Given the description of an element on the screen output the (x, y) to click on. 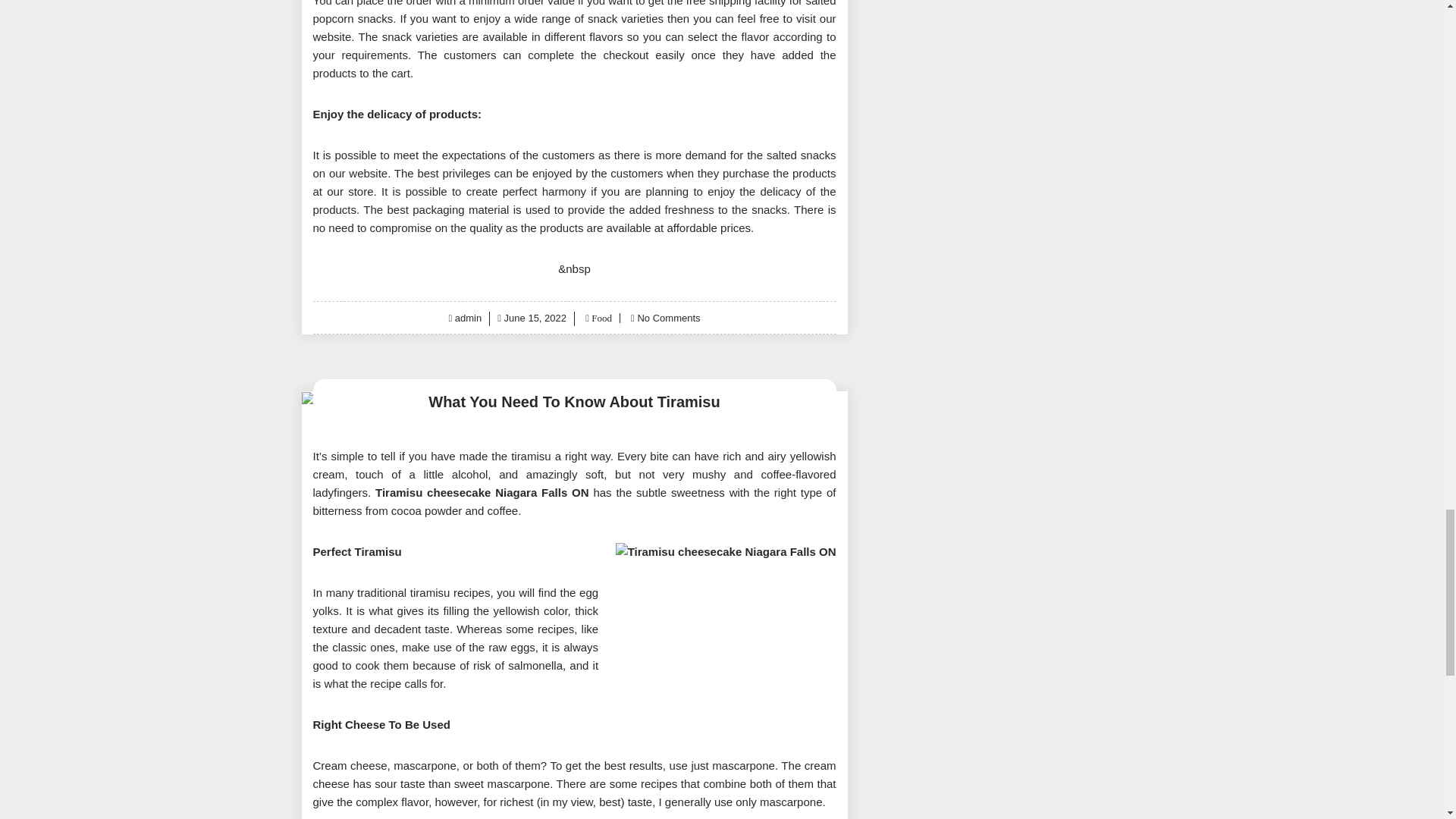
June 15, 2022 (534, 317)
No Comments (668, 317)
Food (600, 317)
What You Need To Know About Tiramisu (574, 402)
Tiramisu cheesecake Niagara Falls ON (482, 492)
admin (467, 317)
